Given the description of an element on the screen output the (x, y) to click on. 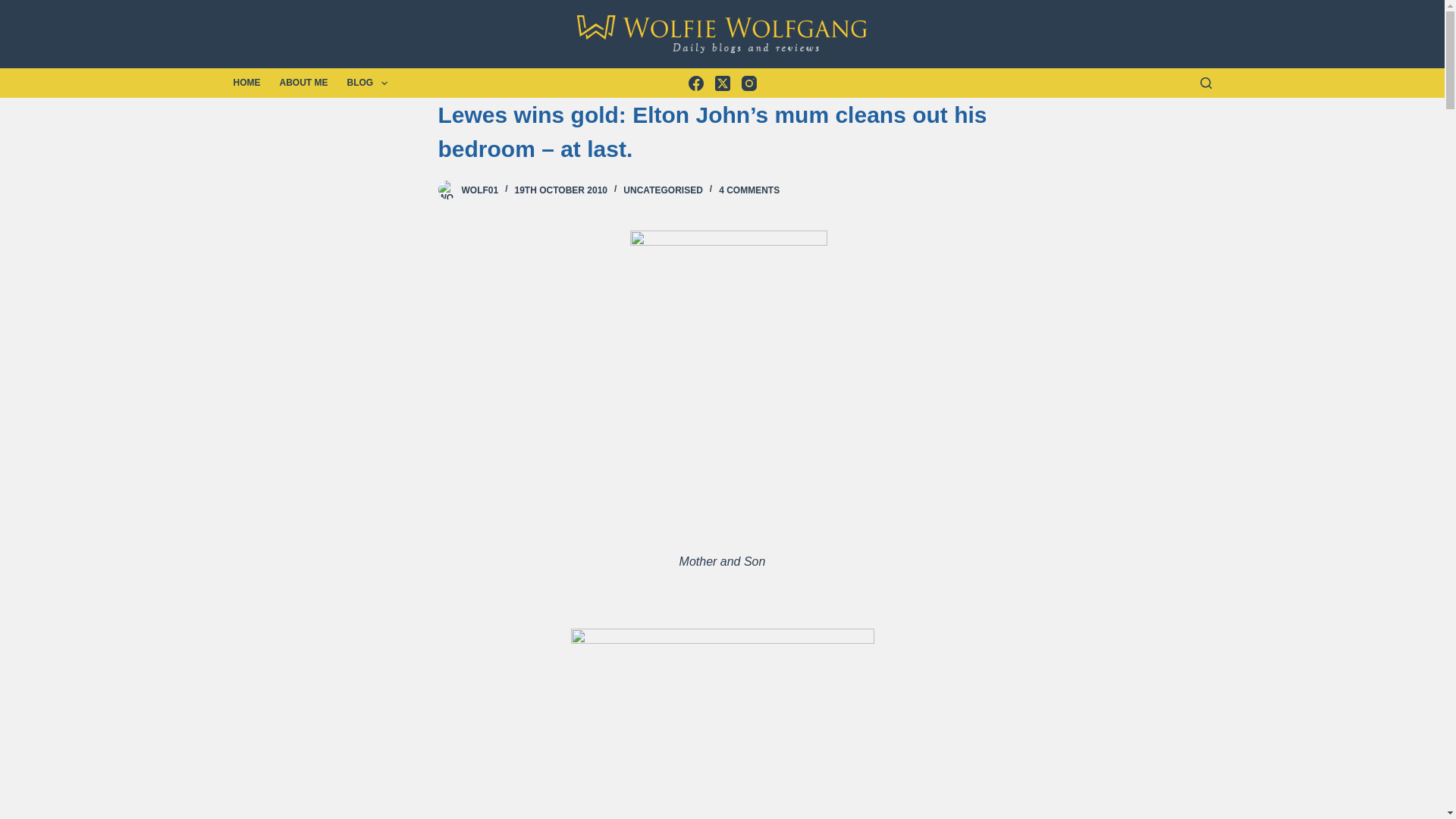
HOME (251, 82)
BLOG (366, 82)
Posts by wolf01 (479, 190)
ABOUT ME (303, 82)
Skip to content (15, 7)
